Given the description of an element on the screen output the (x, y) to click on. 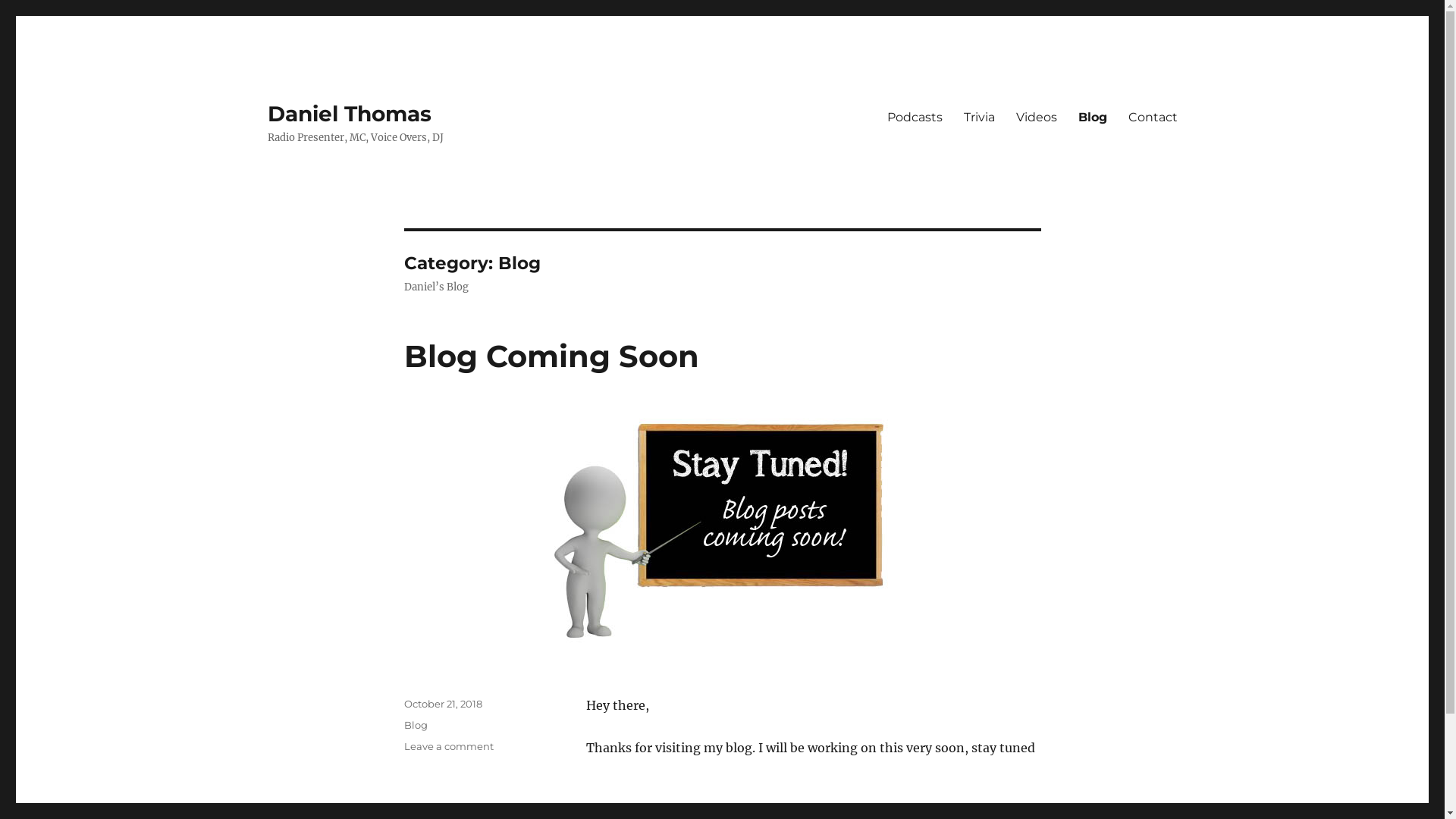
Blog Coming Soon Element type: text (550, 355)
Trivia Element type: text (978, 116)
October 21, 2018 Element type: text (442, 703)
Podcasts Element type: text (914, 116)
Contact Element type: text (1152, 116)
Videos Element type: text (1036, 116)
Leave a comment
on Blog Coming Soon Element type: text (447, 746)
Daniel Thomas Element type: text (348, 113)
Blog Element type: text (1092, 116)
Blog Element type: text (414, 724)
